Given the description of an element on the screen output the (x, y) to click on. 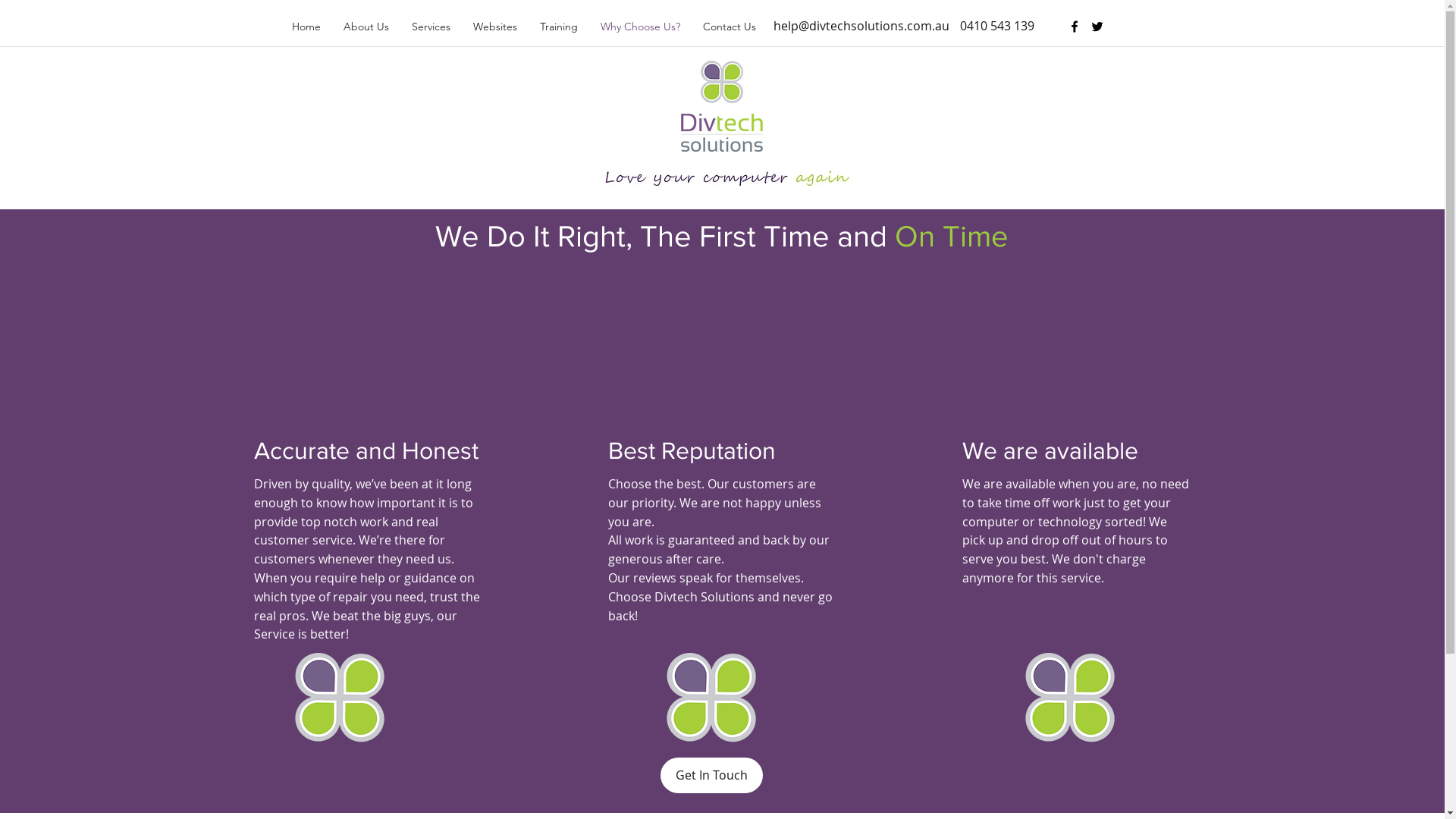
Training Element type: text (557, 26)
Get In Touch Element type: text (710, 775)
Home Element type: text (306, 26)
Why Choose Us? Element type: text (639, 26)
Services Element type: text (430, 26)
About Us Element type: text (366, 26)
External YouTube Element type: hover (696, 343)
help@divtechsolutions.com.au Element type: text (861, 25)
Contact Us Element type: text (729, 26)
Websites Element type: text (494, 26)
